Given the description of an element on the screen output the (x, y) to click on. 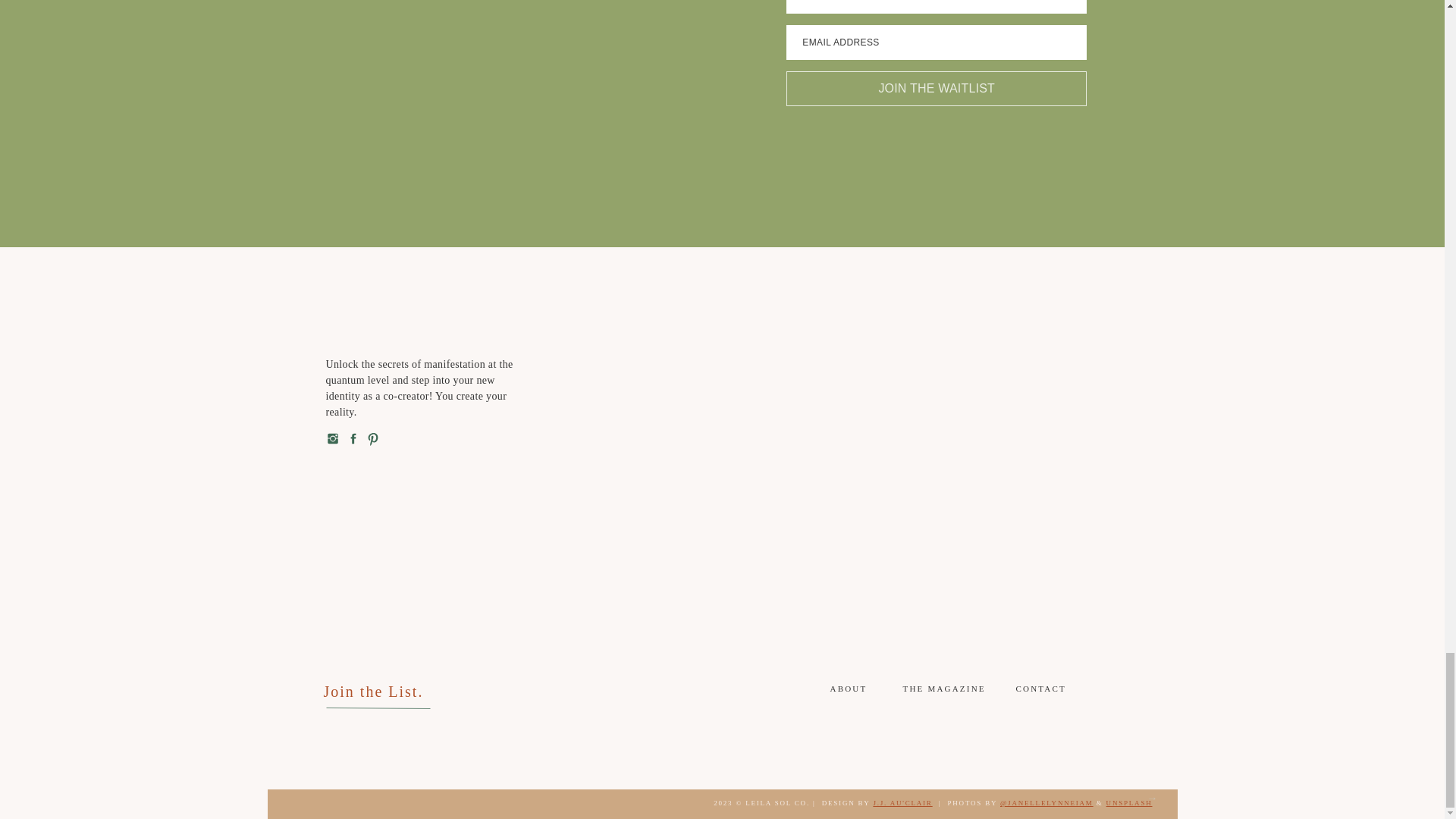
Join the List. (381, 695)
J.J. AU'CLAIR (901, 802)
CONTACT (1040, 691)
UNSPLASH (1129, 802)
THE MAGAZINE (946, 691)
JOIN THE WAITLIST (936, 88)
